Given the description of an element on the screen output the (x, y) to click on. 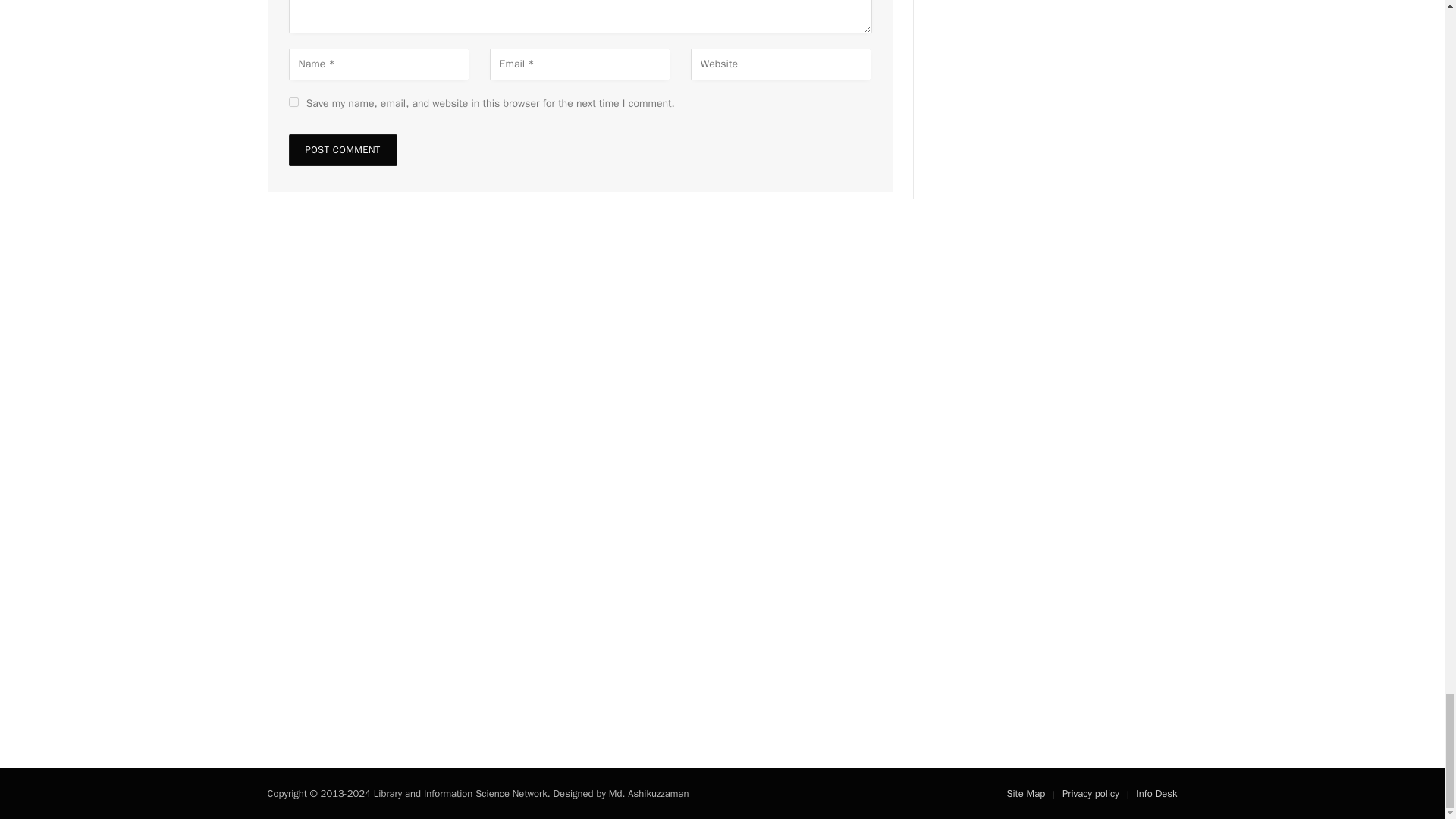
yes (293, 102)
Post Comment (342, 150)
